Given the description of an element on the screen output the (x, y) to click on. 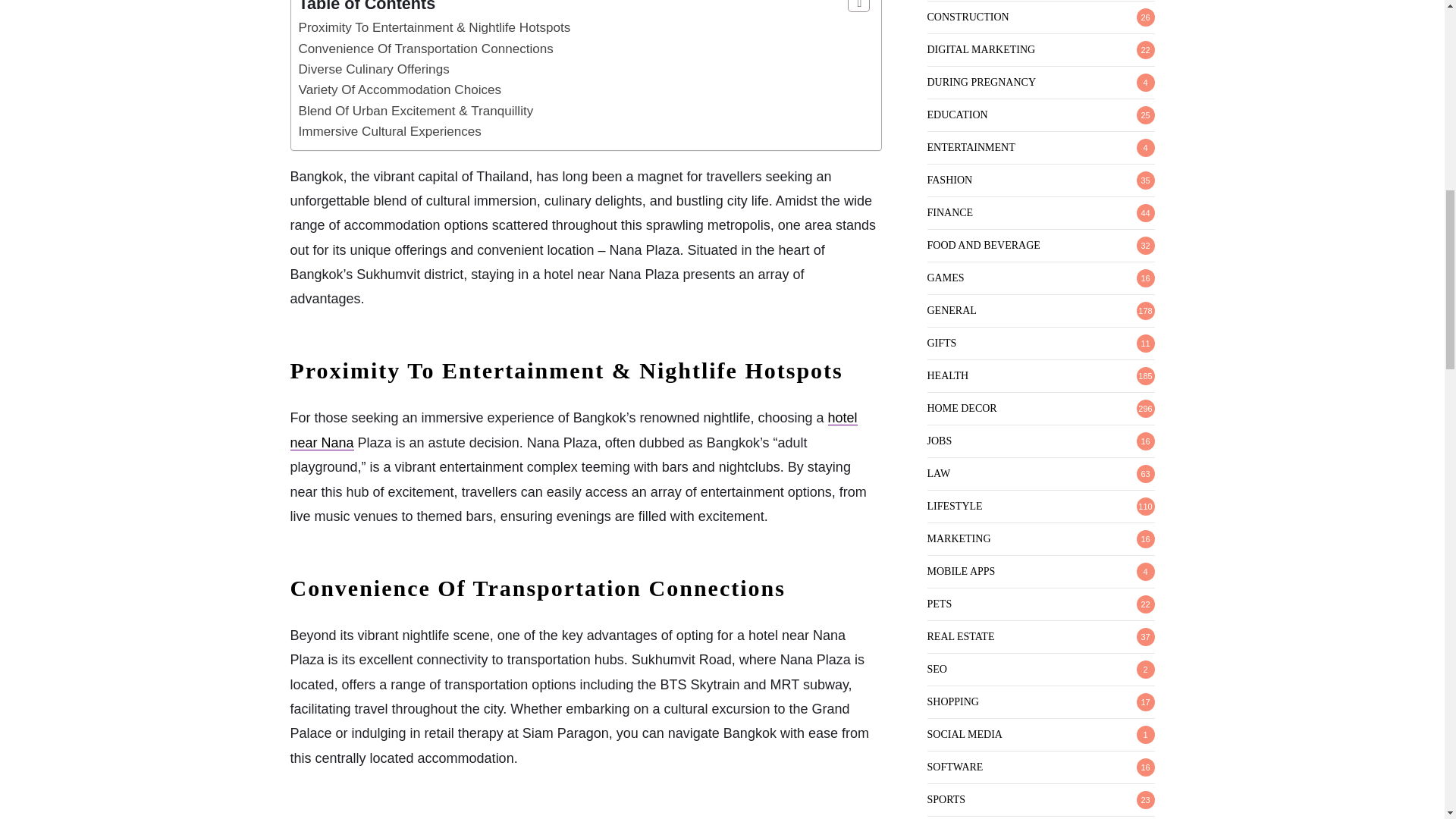
Immersive Cultural Experiences (389, 131)
Diverse Culinary Offerings (373, 69)
Convenience Of Transportation Connections (425, 48)
Variety Of Accommodation Choices (400, 89)
